Given the description of an element on the screen output the (x, y) to click on. 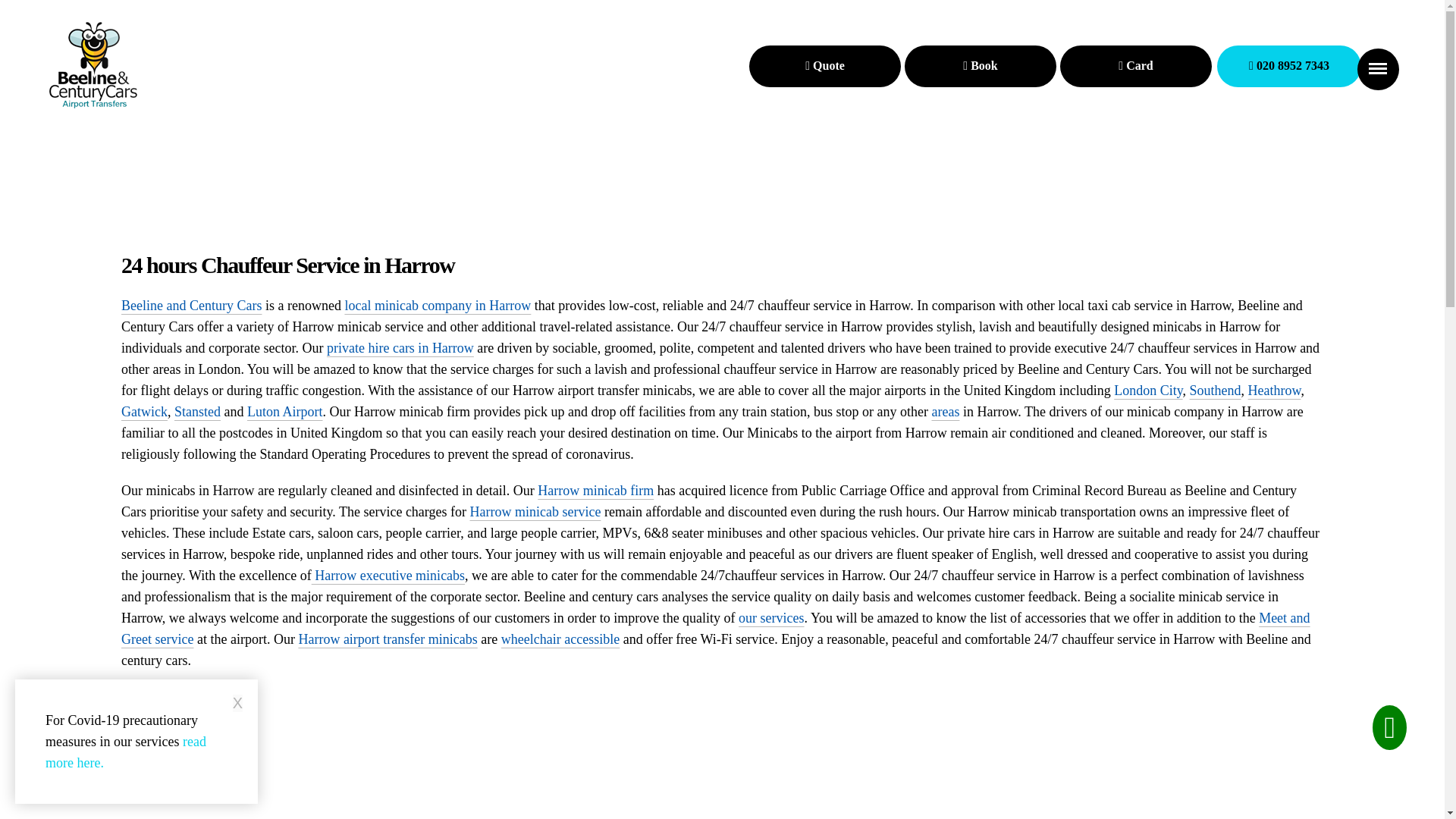
local minicab company in Harrow (437, 305)
X (237, 702)
private hire cars in Harrow (400, 347)
Gatwick (143, 411)
Southend (1215, 390)
Stansted (197, 411)
Book Online - Beeline And Century Cars (825, 65)
Book Online - Beeline And Century Cars (1135, 65)
read more here. (125, 751)
London City (1147, 390)
Beeline and Century Cars (191, 305)
Book (980, 65)
Book Online - Beeline And Century Cars (980, 65)
Call us now - Beeline And Century Cars (1289, 65)
Quote (825, 65)
